Given the description of an element on the screen output the (x, y) to click on. 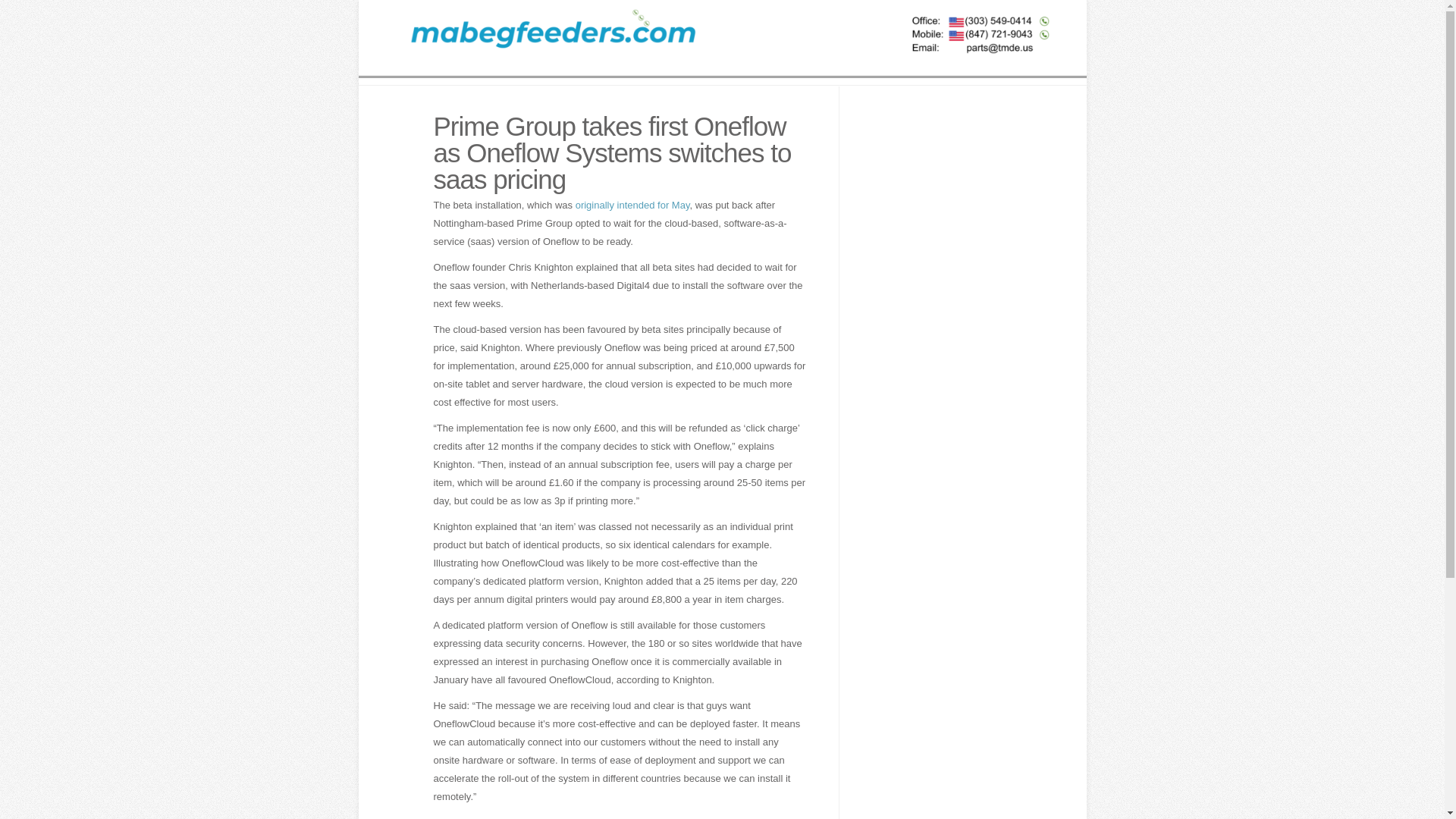
originally intended for May (632, 204)
